Given the description of an element on the screen output the (x, y) to click on. 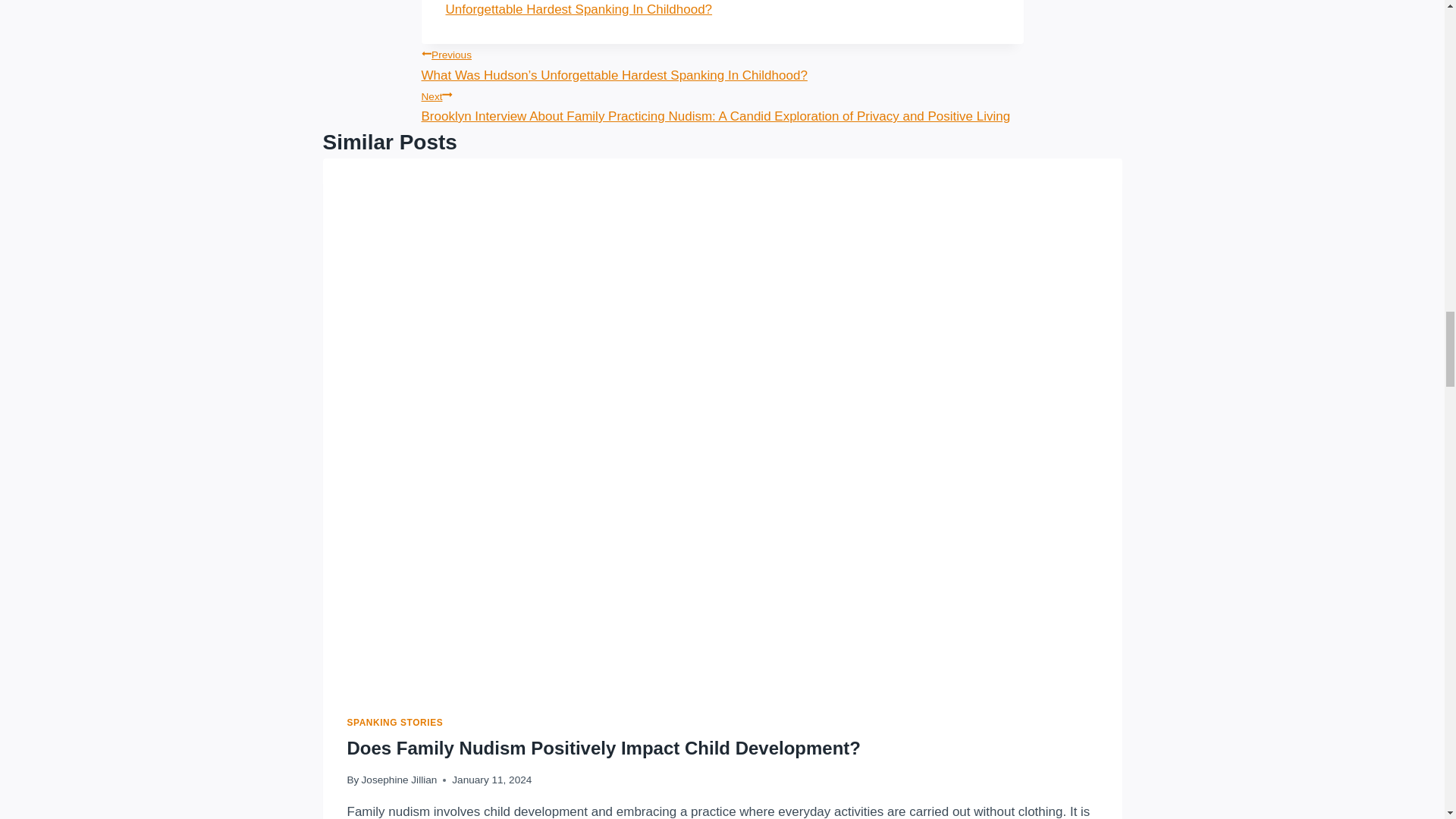
Does Family Nudism Positively Impact Child Development? (604, 747)
Josephine Jillian (399, 779)
SPANKING STORIES (395, 722)
